Given the description of an element on the screen output the (x, y) to click on. 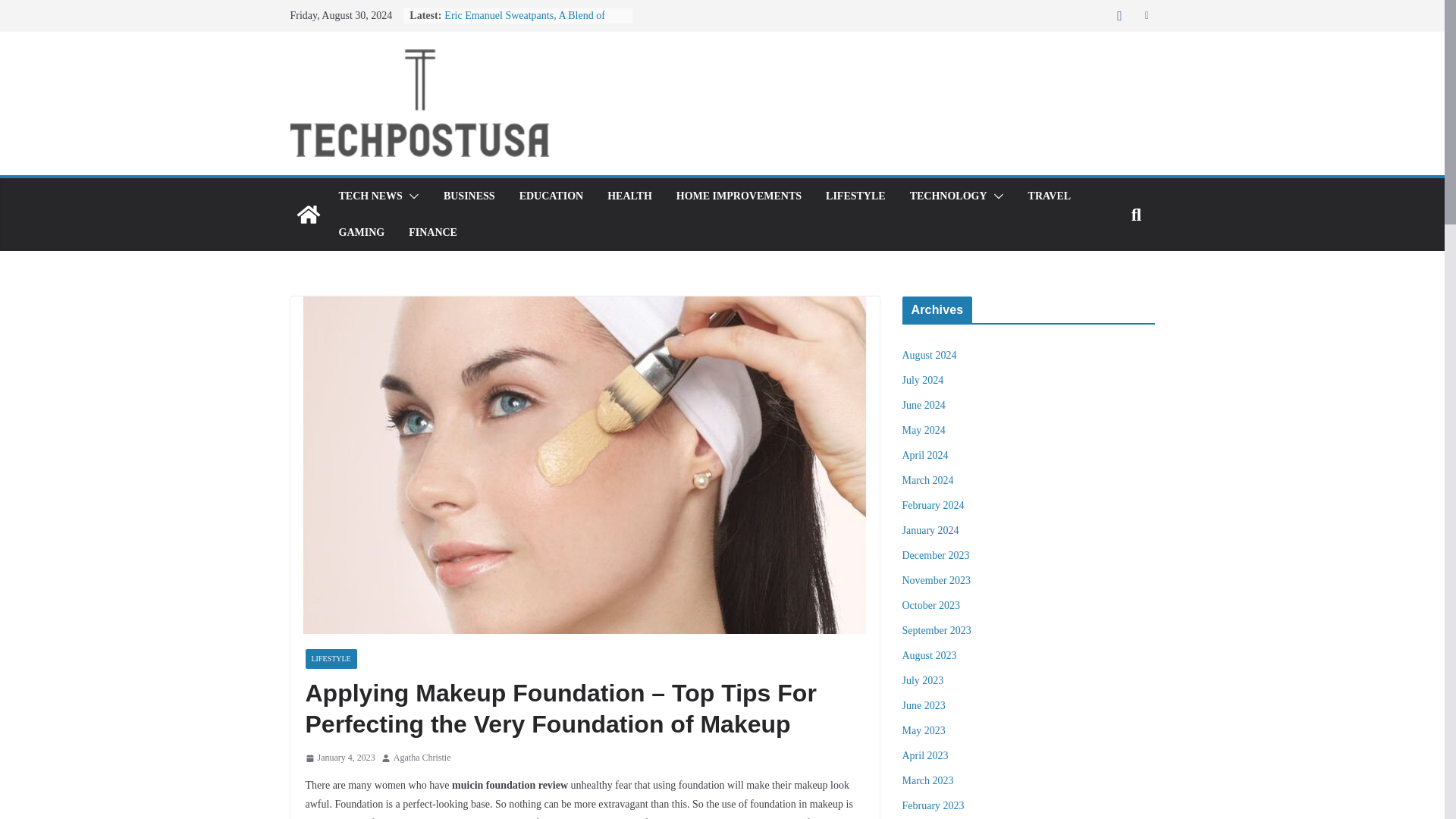
LIFESTYLE (330, 659)
TECH NEWS (369, 196)
HEALTH (629, 196)
EDUCATION (551, 196)
Agatha Christie (422, 758)
HOME IMPROVEMENTS (739, 196)
Tech Post Usa (307, 214)
LIFESTYLE (855, 196)
Agatha Christie (422, 758)
